Given the description of an element on the screen output the (x, y) to click on. 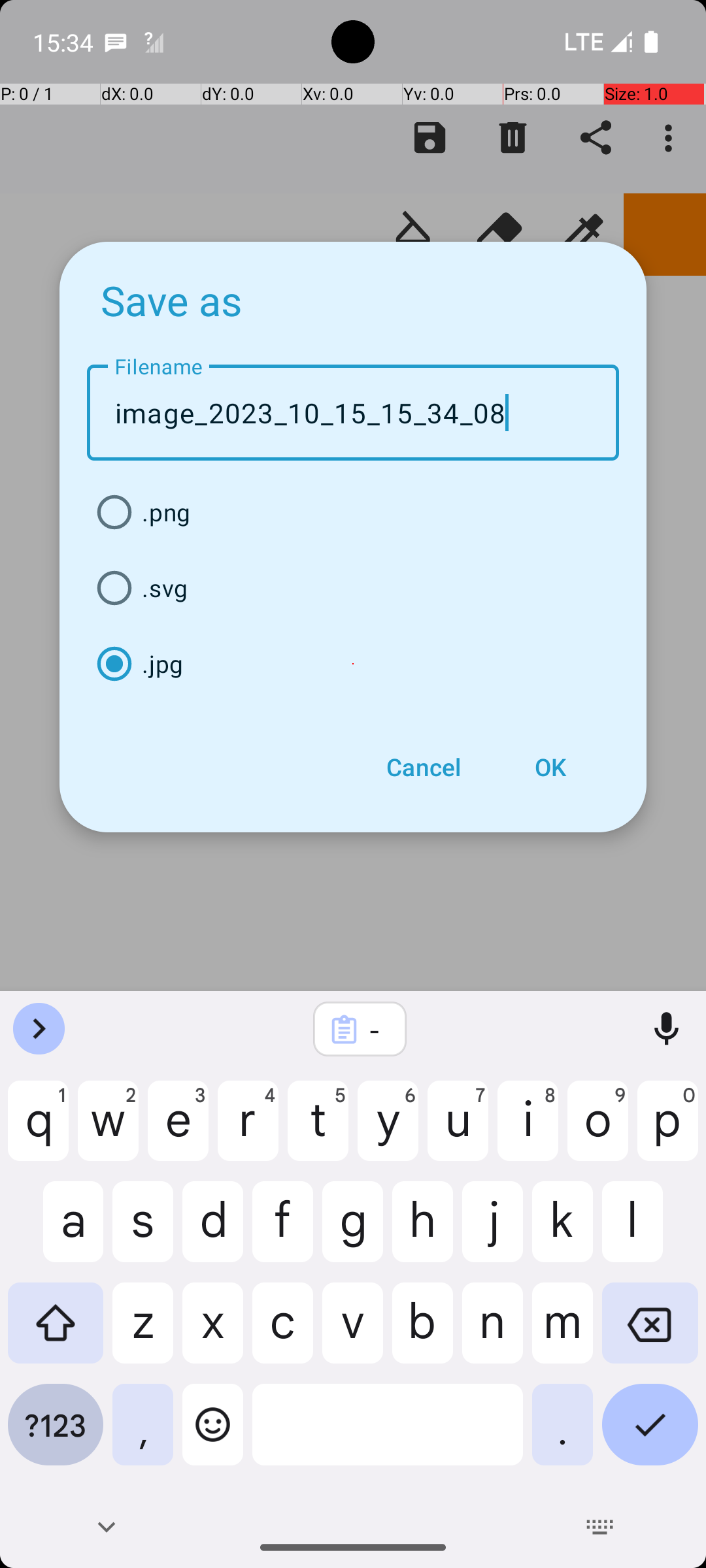
Save as Element type: android.widget.TextView (171, 299)
image_2023_10_15_15_34_08 Element type: android.widget.EditText (352, 412)
.png Element type: android.widget.RadioButton (352, 512)
.svg Element type: android.widget.RadioButton (352, 587)
.jpg Element type: android.widget.RadioButton (352, 663)
